Given the description of an element on the screen output the (x, y) to click on. 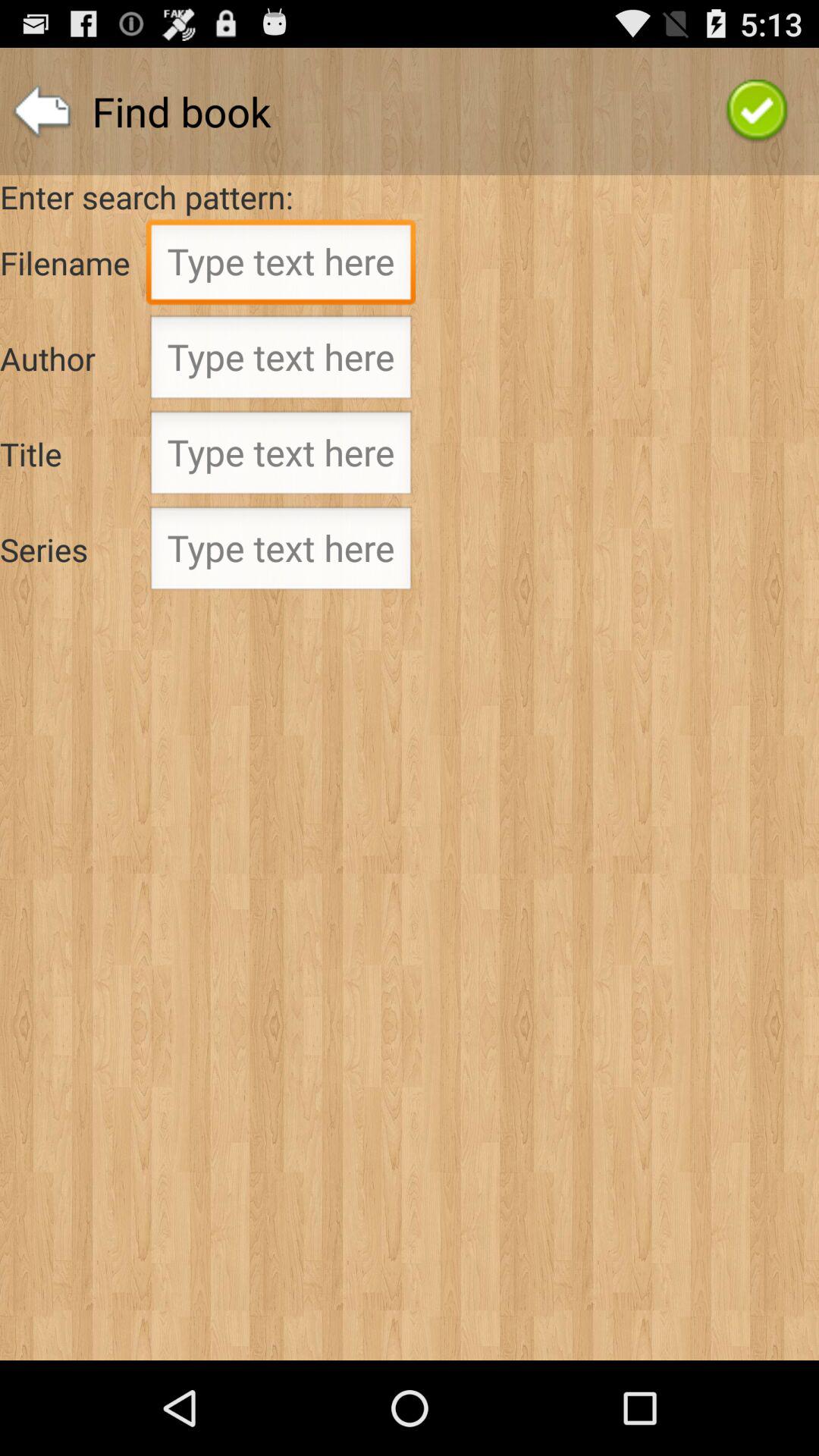
enter into the box (280, 361)
